Given the description of an element on the screen output the (x, y) to click on. 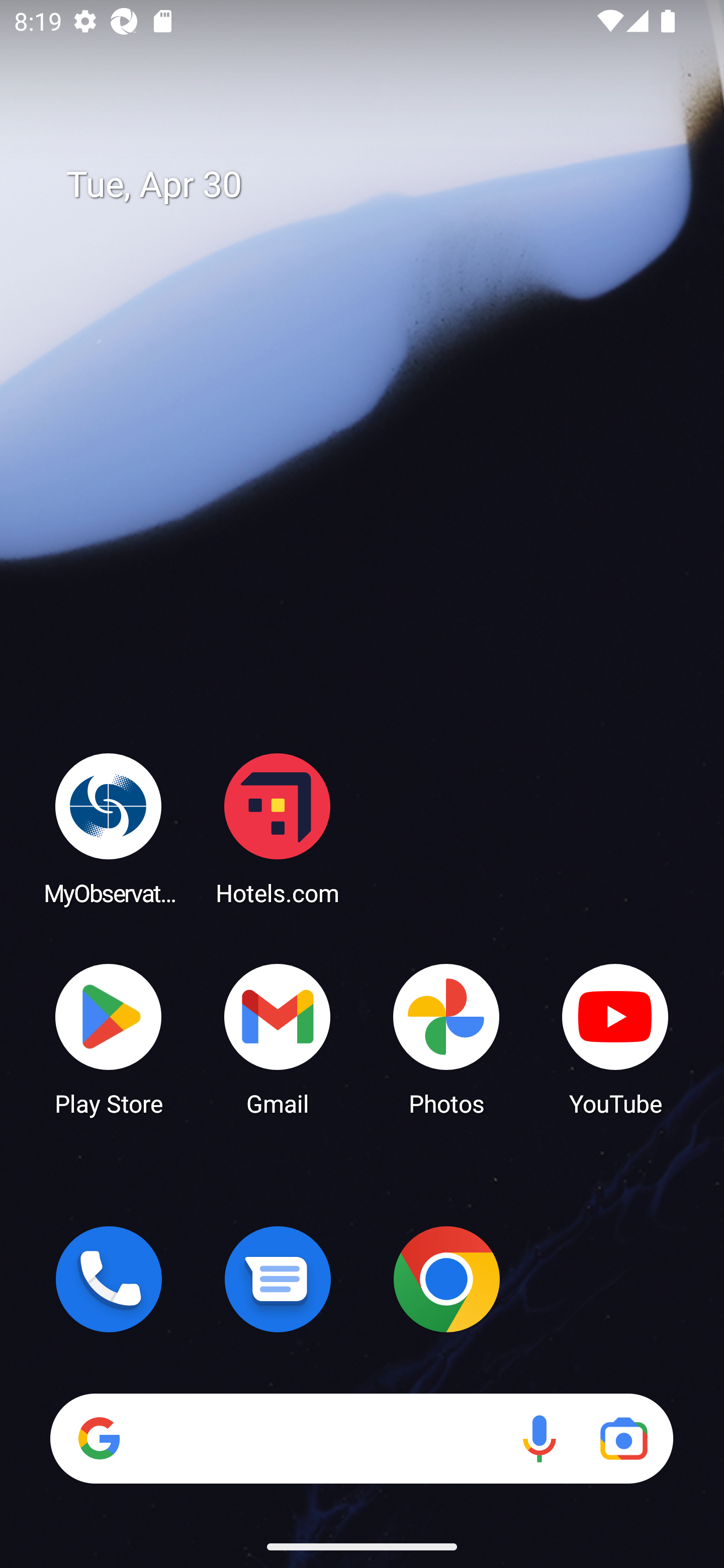
Tue, Apr 30 (375, 184)
MyObservatory (108, 828)
Hotels.com (277, 828)
Play Store (108, 1038)
Gmail (277, 1038)
Photos (445, 1038)
YouTube (615, 1038)
Phone (108, 1279)
Messages (277, 1279)
Chrome (446, 1279)
Voice search (539, 1438)
Google Lens (623, 1438)
